Given the description of an element on the screen output the (x, y) to click on. 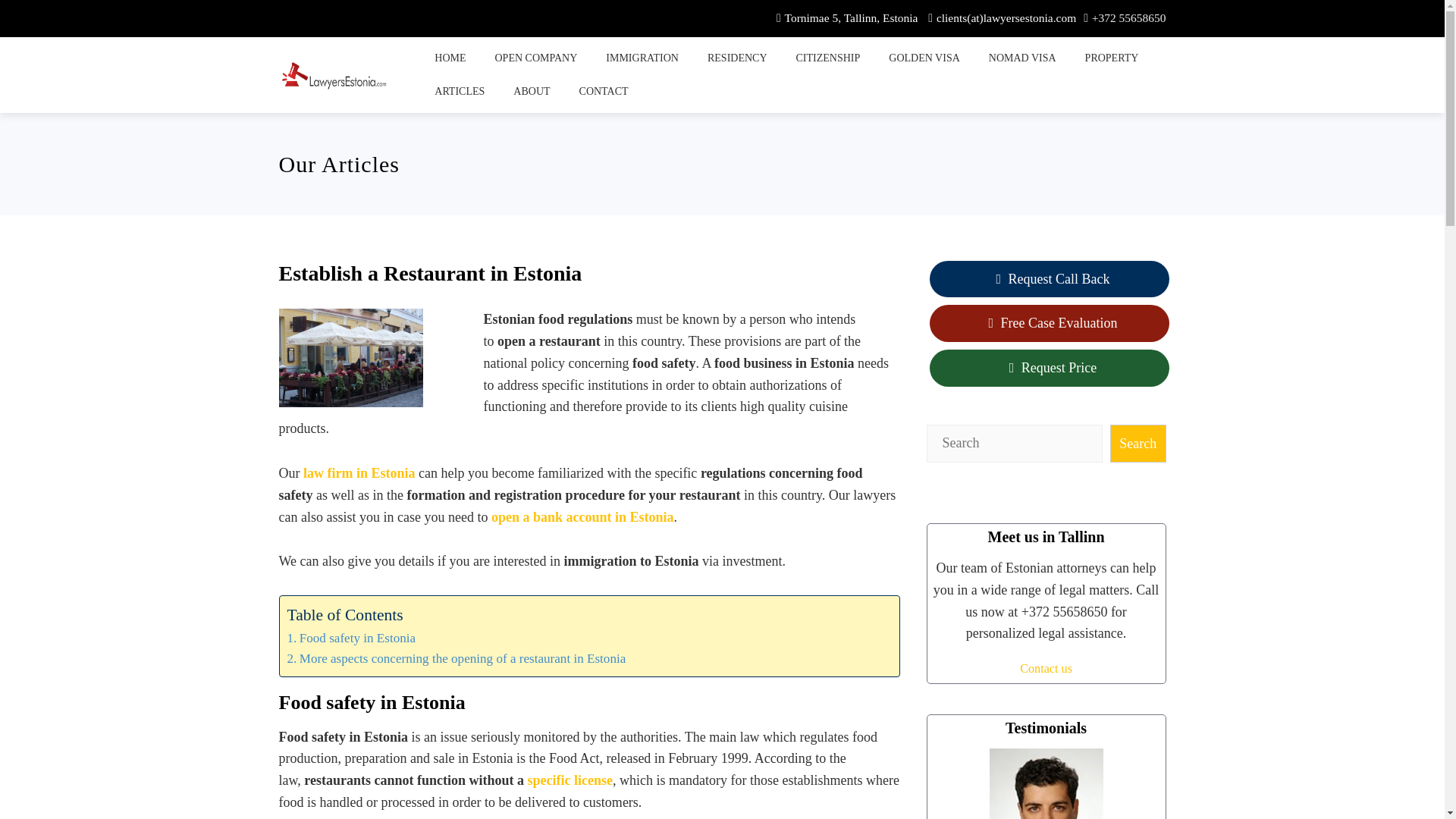
PROPERTY (1112, 58)
RESIDENCY (736, 58)
ARTICLES (459, 91)
GOLDEN VISA (923, 58)
law firm in Estonia (358, 473)
Food safety in Estonia (350, 638)
CITIZENSHIP (828, 58)
OPEN COMPANY (535, 58)
